Given the description of an element on the screen output the (x, y) to click on. 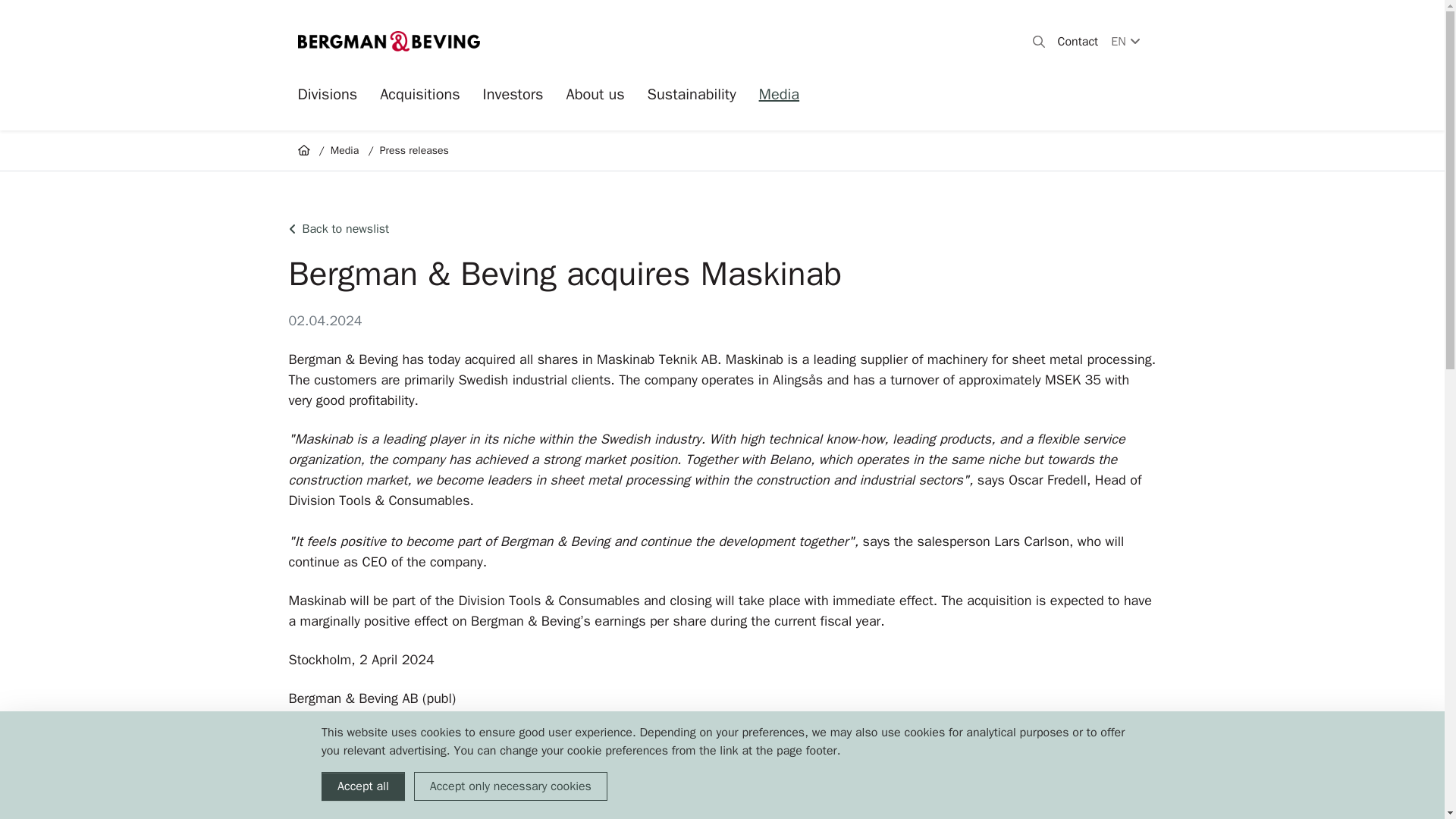
Divisions (326, 100)
Acquisitions (420, 100)
Investors (513, 100)
EN (1125, 41)
About us (595, 100)
Contact (1078, 41)
